Given the description of an element on the screen output the (x, y) to click on. 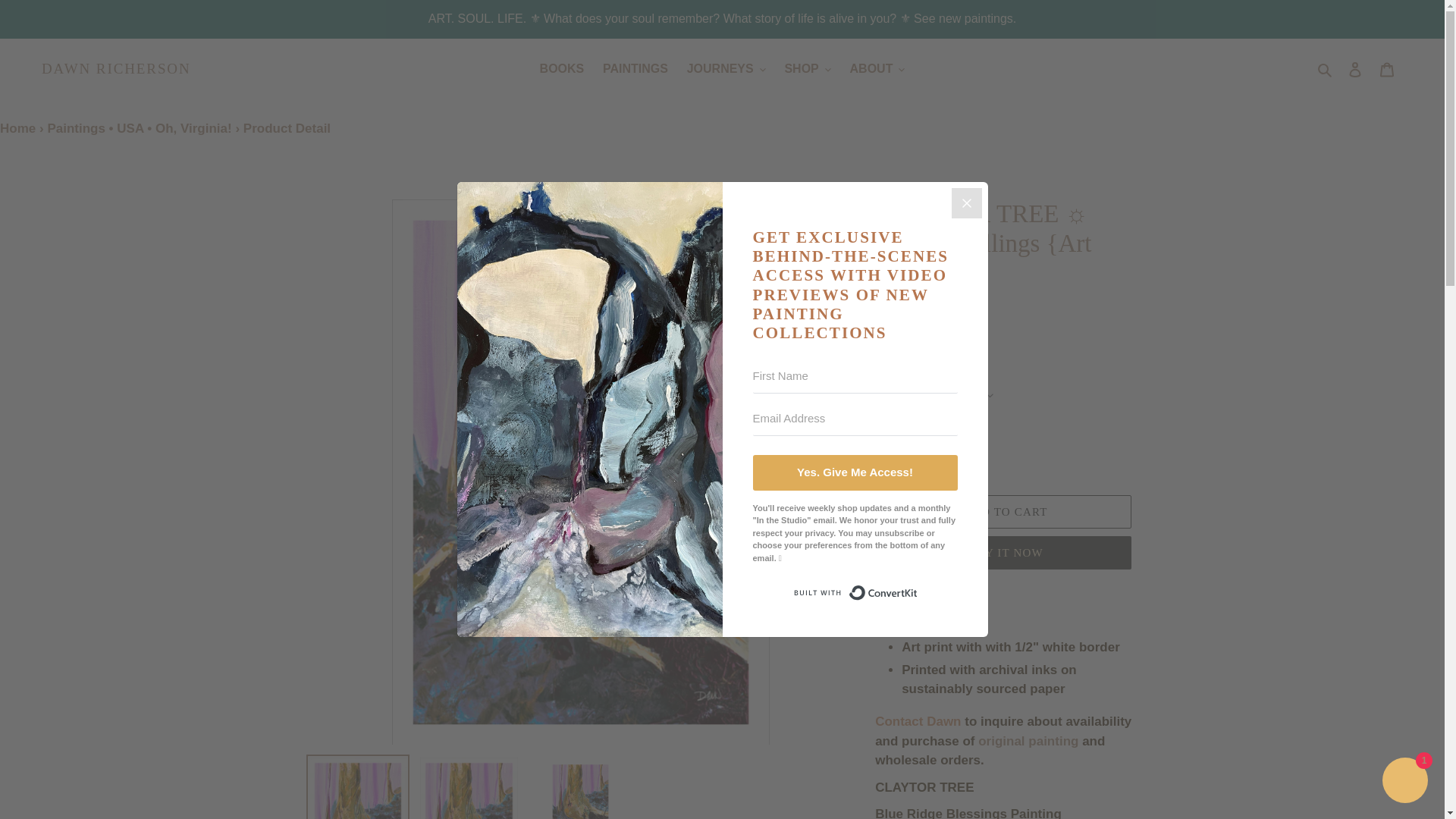
PAINTINGS (635, 68)
Shopify online store chat (1404, 781)
SHOP (807, 68)
JOURNEYS (726, 68)
BOOKS (562, 68)
Contact Dawn Richerson (917, 721)
Product (286, 128)
Home (17, 128)
Log in (1355, 68)
DAWN RICHERSON (116, 68)
ABOUT (877, 68)
Claytor Tree original painting by Dawn Richerson (1028, 741)
1 (909, 459)
Search (1326, 68)
Cart (1387, 68)
